Given the description of an element on the screen output the (x, y) to click on. 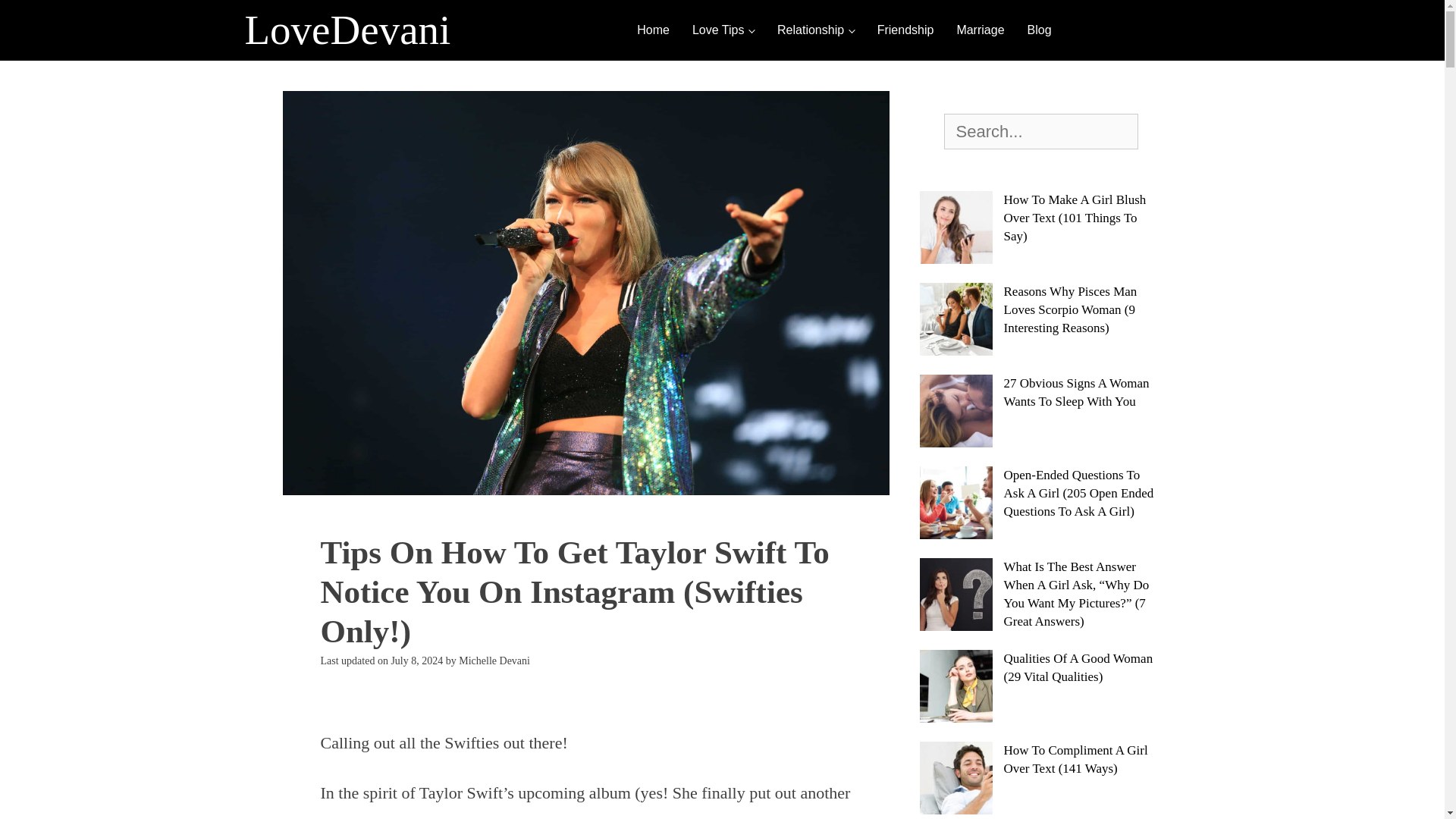
Friendship (905, 30)
Search (32, 11)
27 Obvious Signs A Woman Wants To Sleep With You (1039, 410)
Marriage (979, 30)
Relationship (815, 30)
Home (653, 30)
Love Tips (723, 30)
LoveDevani (346, 36)
